Given the description of an element on the screen output the (x, y) to click on. 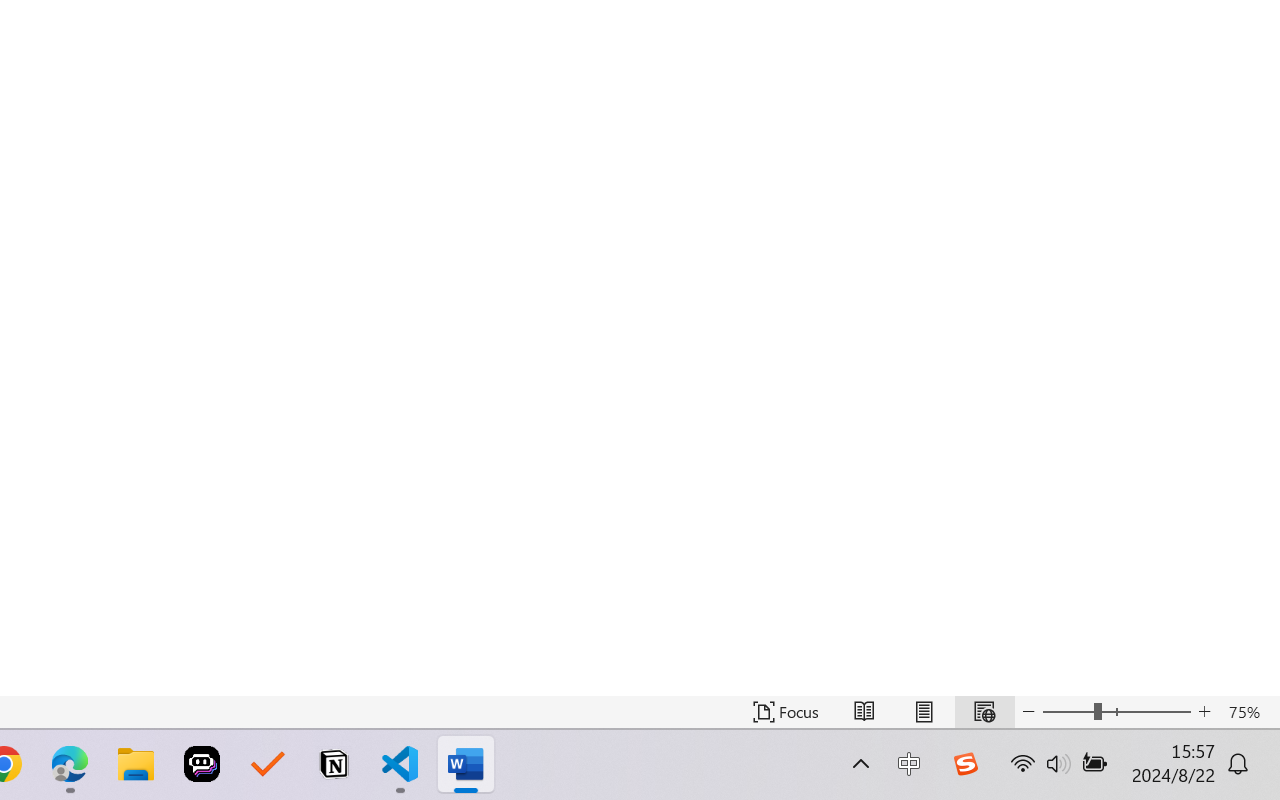
Zoom In (1204, 712)
Web Layout (984, 712)
Class: Image (965, 764)
Print Layout (924, 712)
Read Mode (864, 712)
Zoom (1116, 712)
Focus  (786, 712)
Zoom 75% (1249, 712)
Zoom Out (1067, 712)
